Given the description of an element on the screen output the (x, y) to click on. 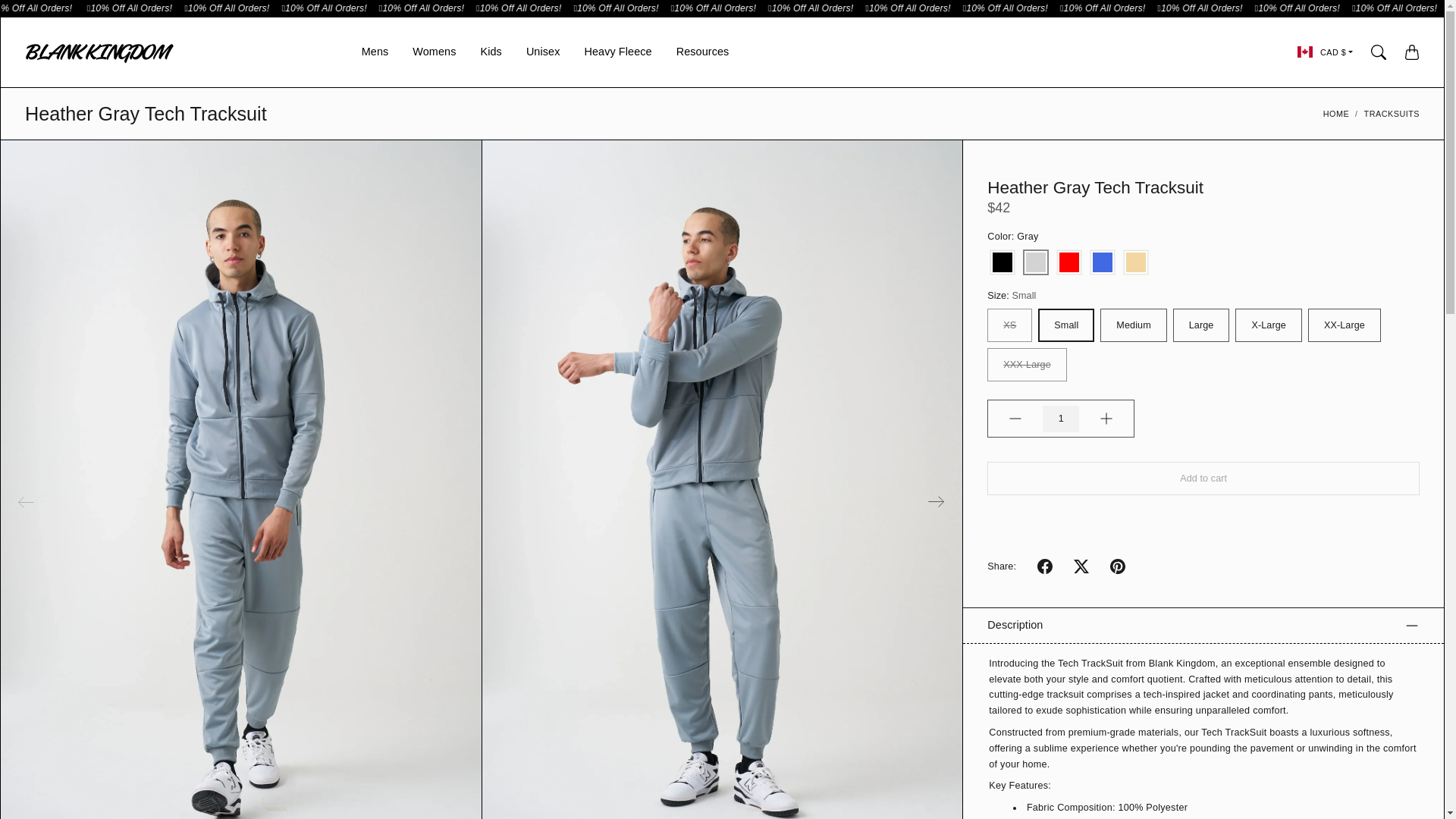
Black (1002, 262)
Sand  (1136, 262)
Royal Blue (1102, 262)
Red (1069, 262)
1 (1060, 418)
Gray (1035, 262)
